Given the description of an element on the screen output the (x, y) to click on. 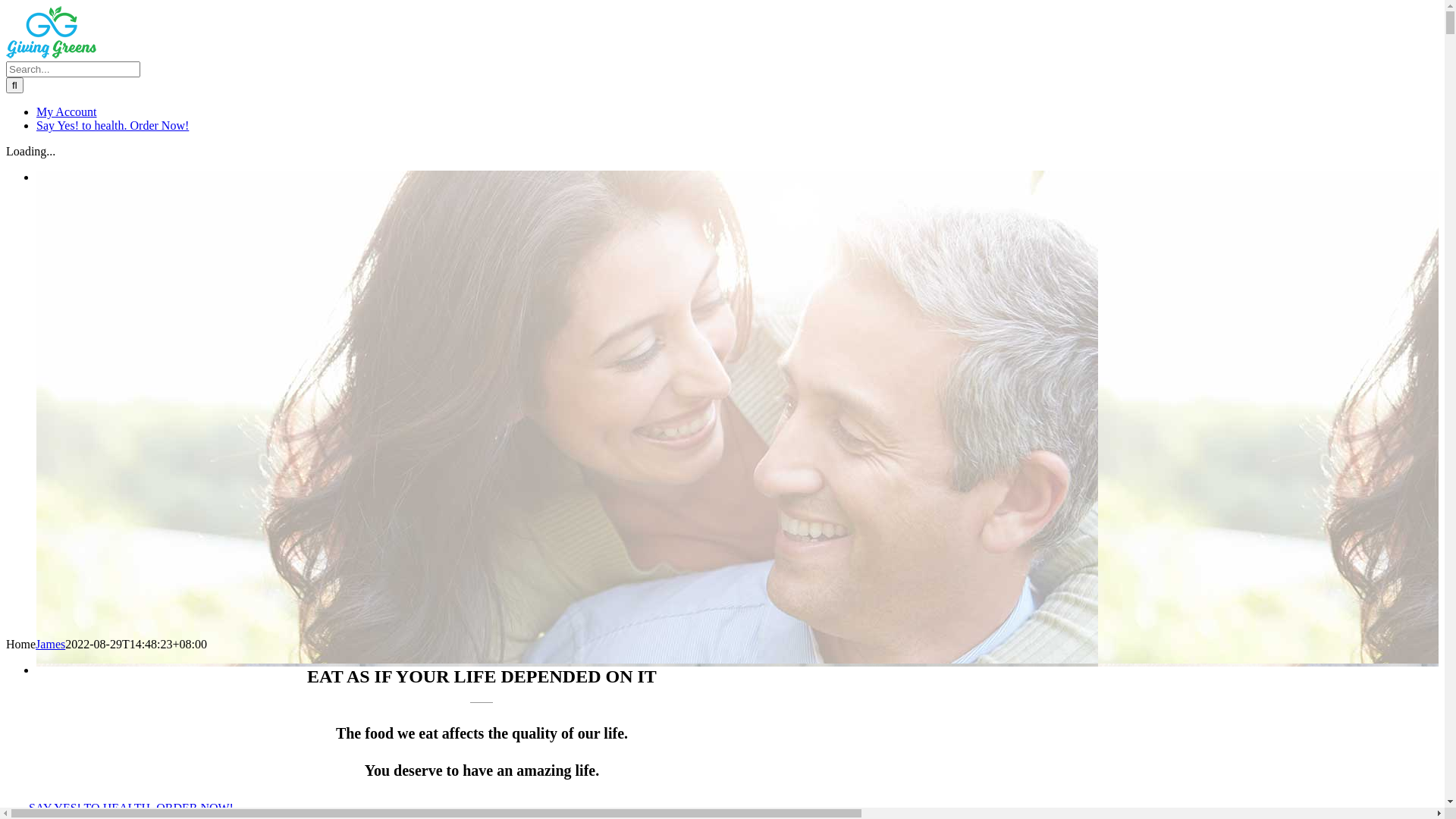
Skip to content Element type: text (5, 5)
My Account Element type: text (66, 111)
Say Yes! to health. Order Now! Element type: text (112, 125)
SAY YES! TO HEALTH. ORDER NOW! Element type: text (130, 807)
James Element type: text (50, 643)
